Given the description of an element on the screen output the (x, y) to click on. 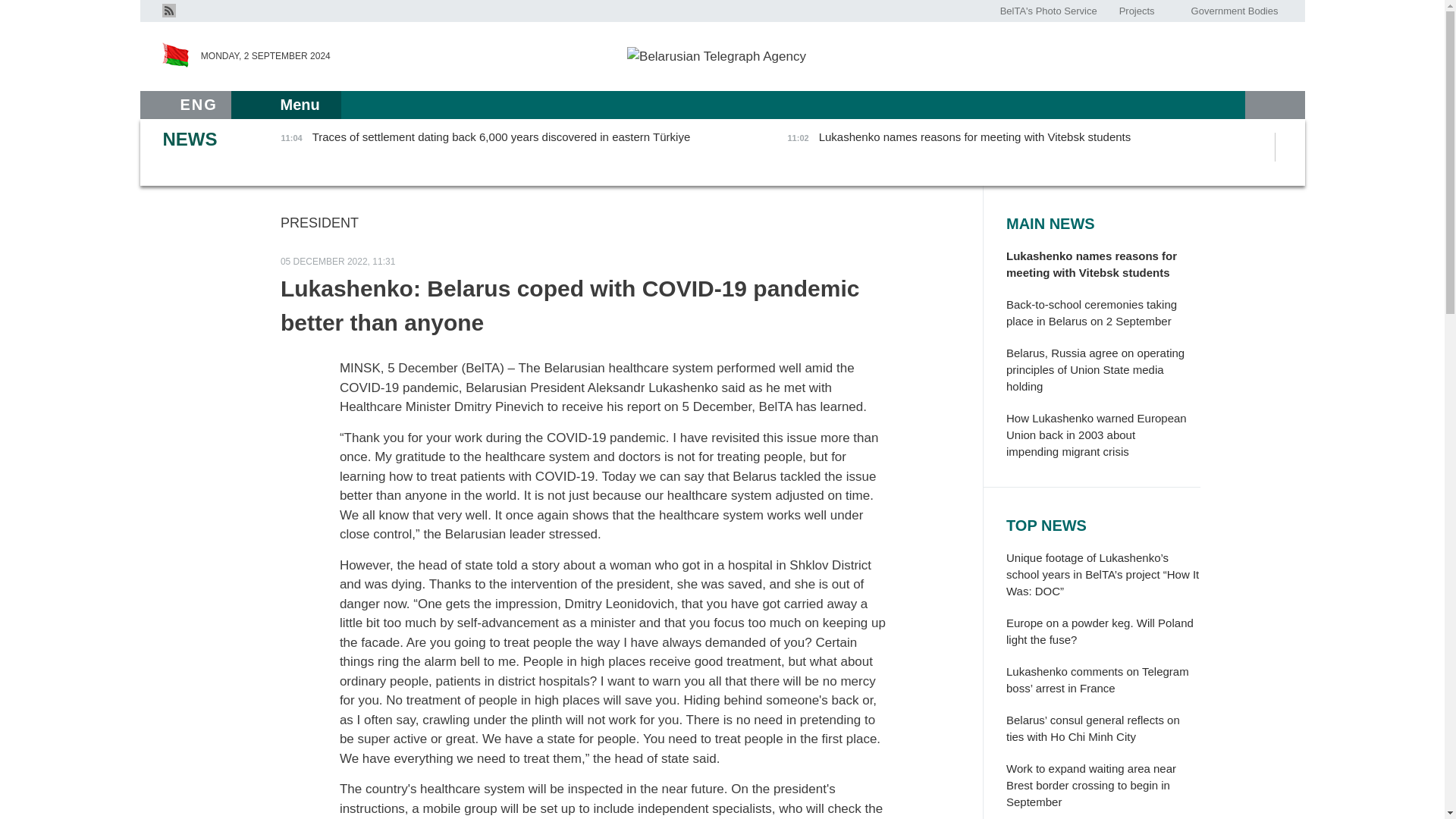
Government Bodies (1233, 11)
Rss (168, 10)
BelTA's Photo Service (1048, 11)
Government Bodies (1233, 11)
Rss (167, 9)
Projects (1136, 11)
BelTA's Photo Service (1048, 11)
Projects (1136, 11)
